Given the description of an element on the screen output the (x, y) to click on. 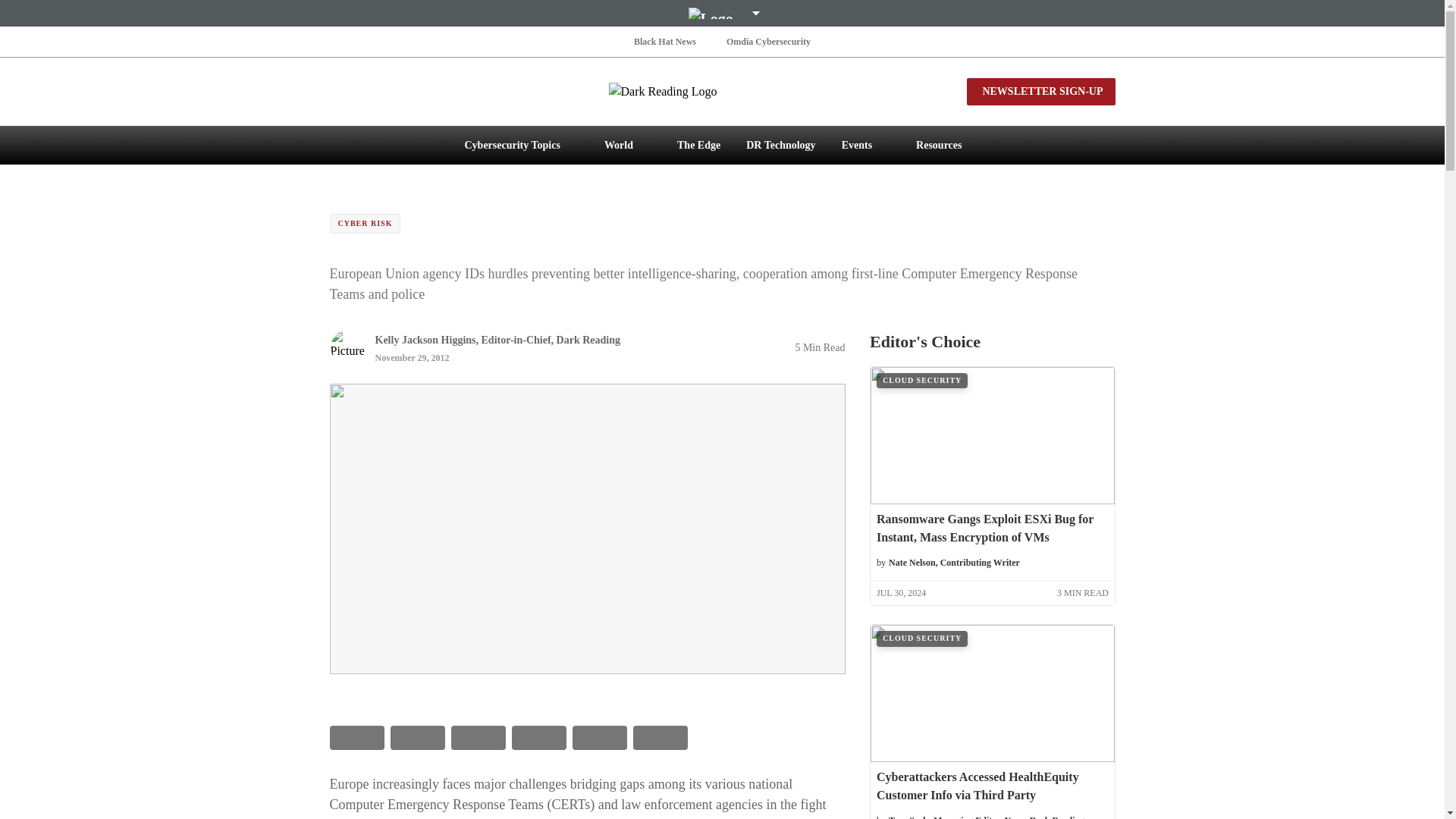
Black Hat News (664, 41)
Omdia Cybersecurity (768, 41)
NEWSLETTER SIGN-UP (1040, 90)
Dark Reading Logo (721, 91)
